Given the description of an element on the screen output the (x, y) to click on. 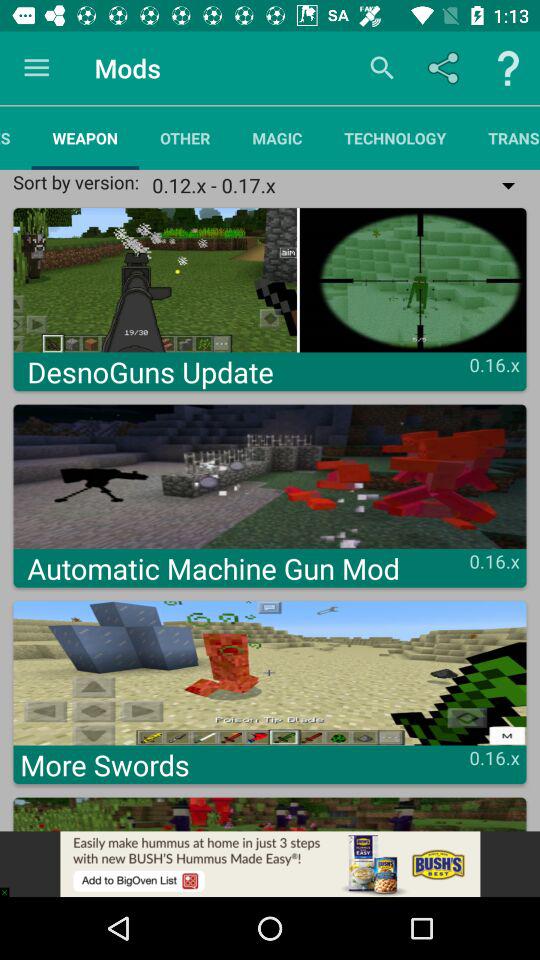
turn off the item next to the mods icon (36, 68)
